Given the description of an element on the screen output the (x, y) to click on. 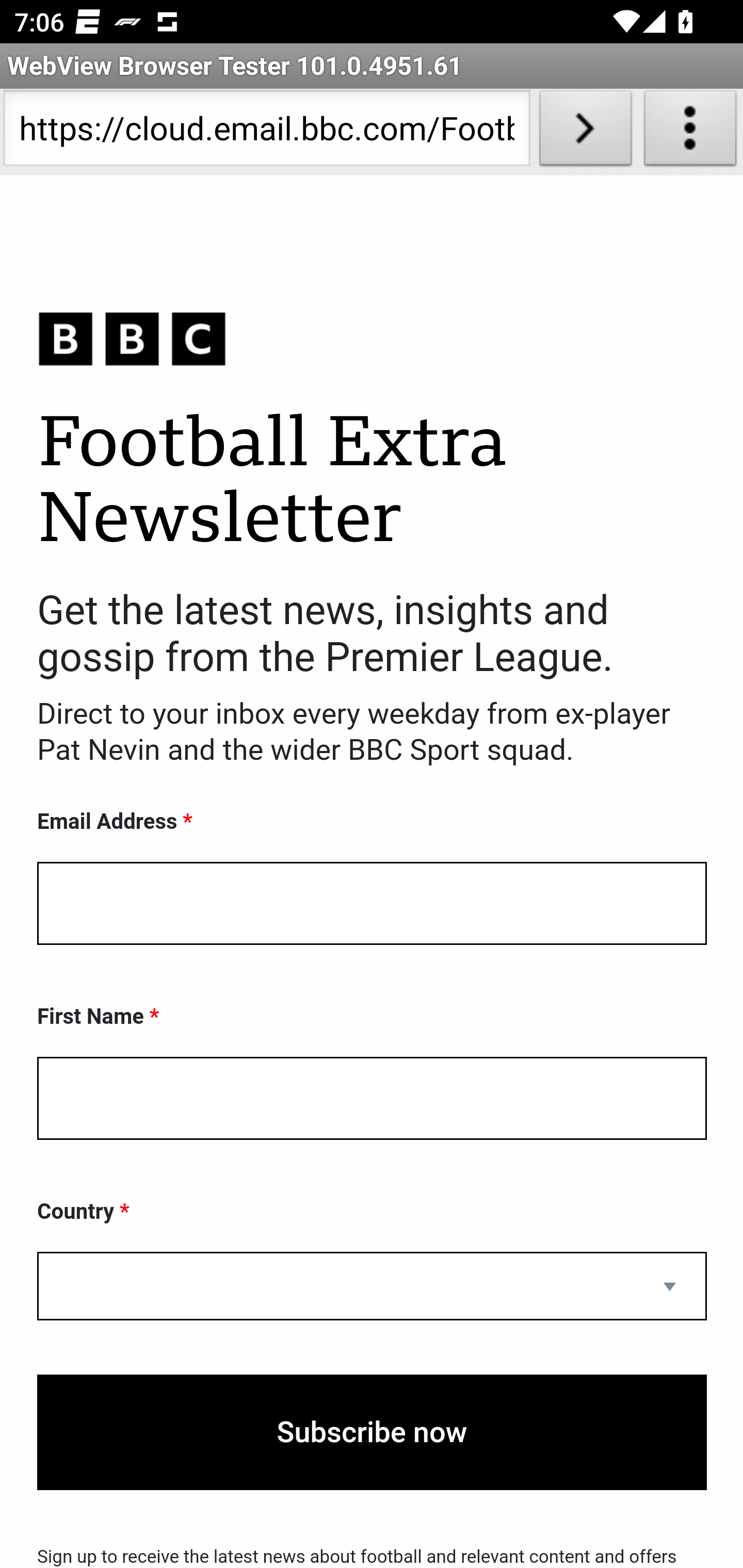
Load URL (585, 132)
About WebView (690, 132)
BBC (372, 338)
Subscribe now (372, 1432)
